Given the description of an element on the screen output the (x, y) to click on. 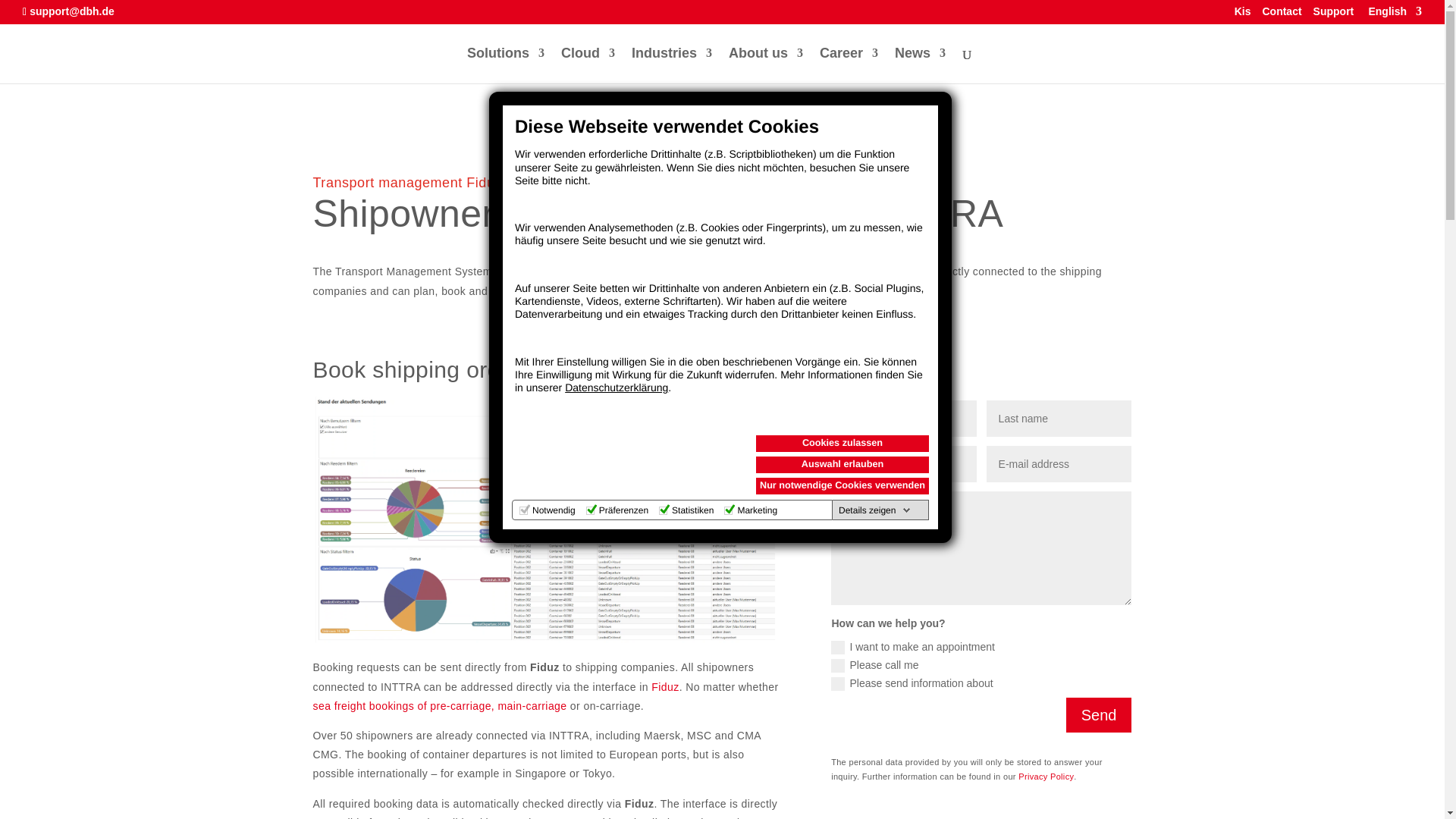
Details zeigen (874, 510)
Auswahl erlauben (841, 464)
Nur notwendige Cookies verwenden (841, 485)
Cookies zulassen (841, 443)
